Given the description of an element on the screen output the (x, y) to click on. 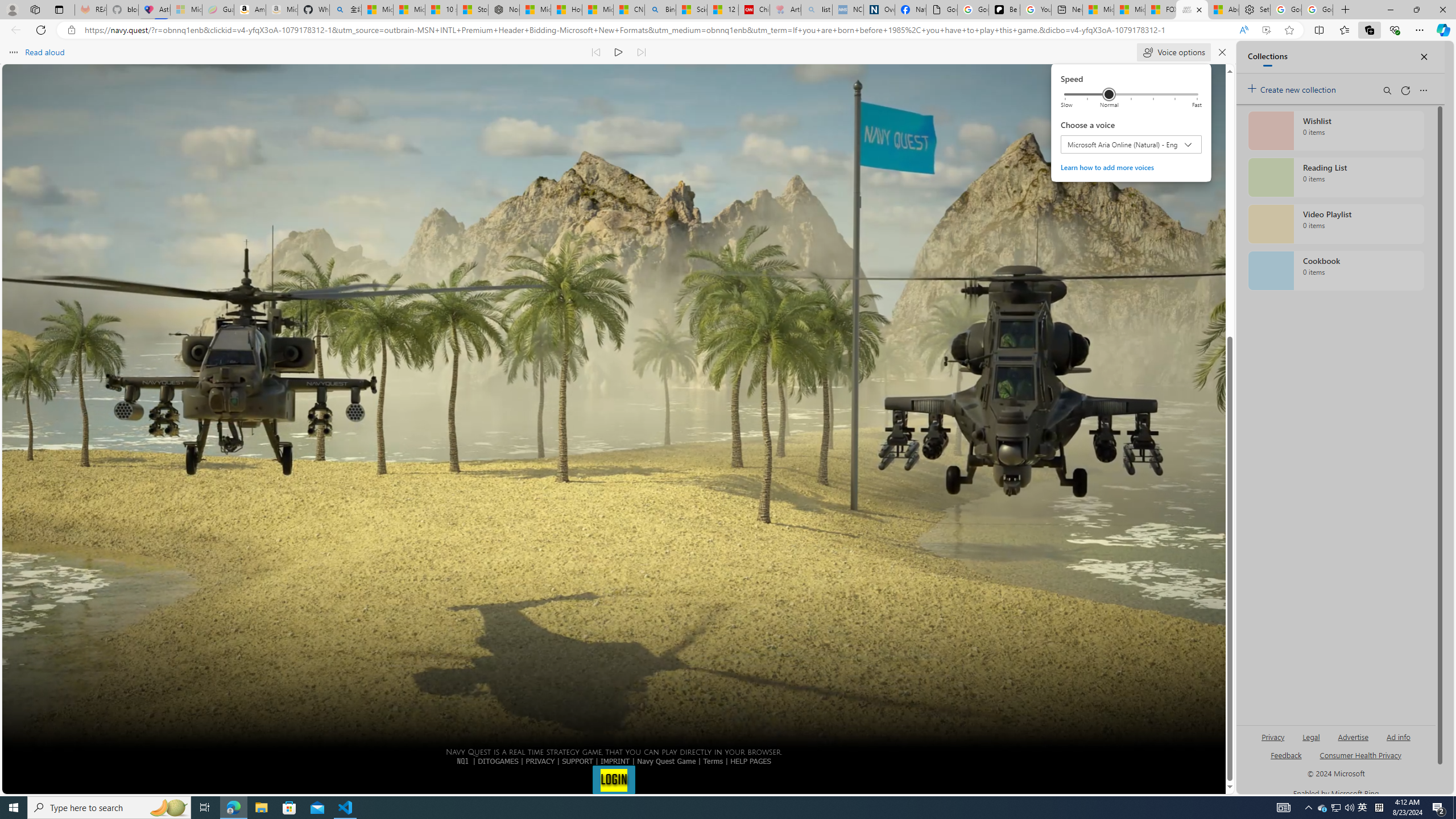
12 Popular Science Lies that Must be Corrected (722, 9)
User Promoted Notification Area (1336, 807)
PRIVACY (539, 760)
FOX News - MSN (1160, 9)
Navy Quest (1192, 9)
